Given the description of an element on the screen output the (x, y) to click on. 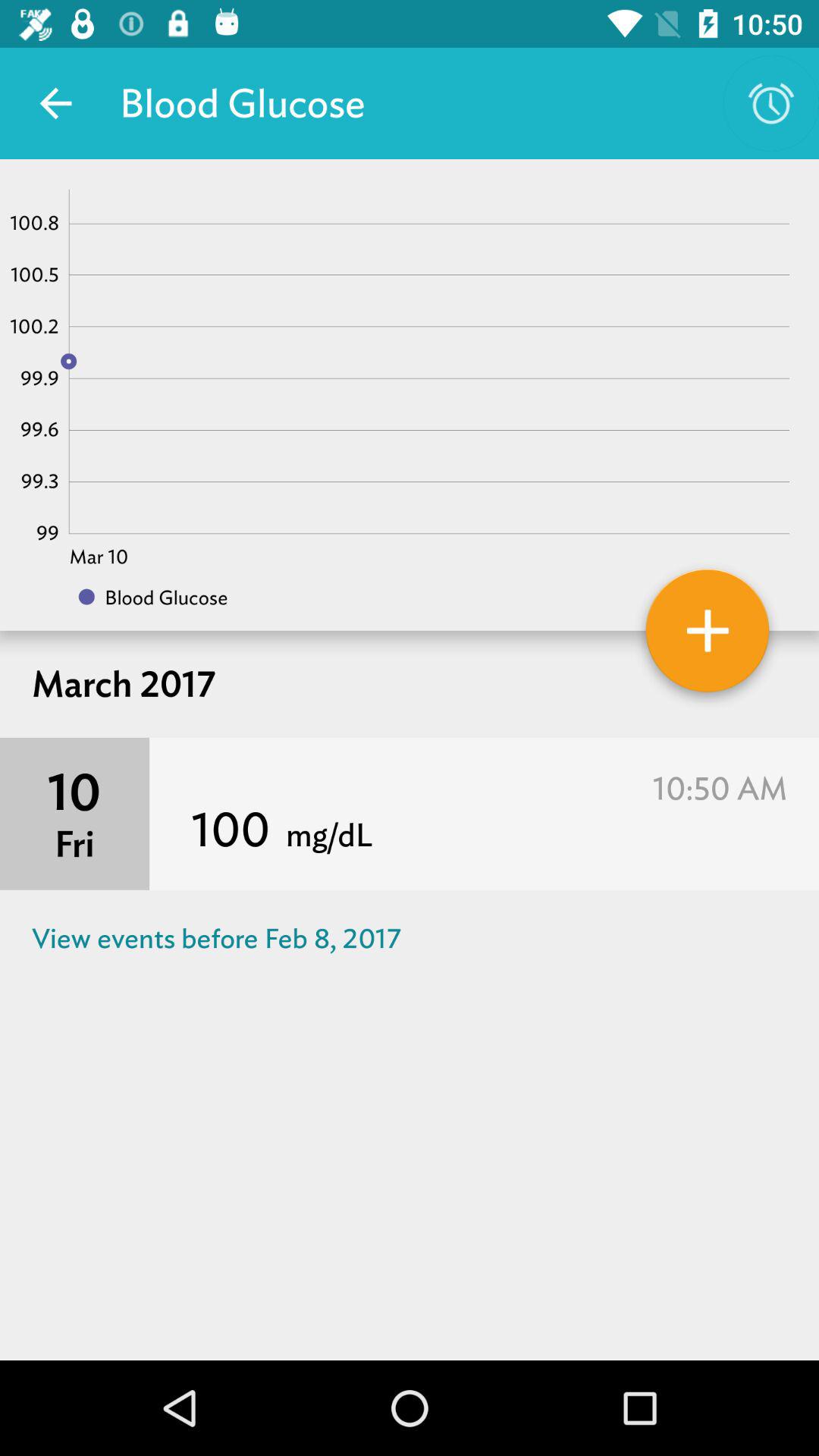
click the clock icon (771, 103)
choose the orange color button (707, 636)
